Given the description of an element on the screen output the (x, y) to click on. 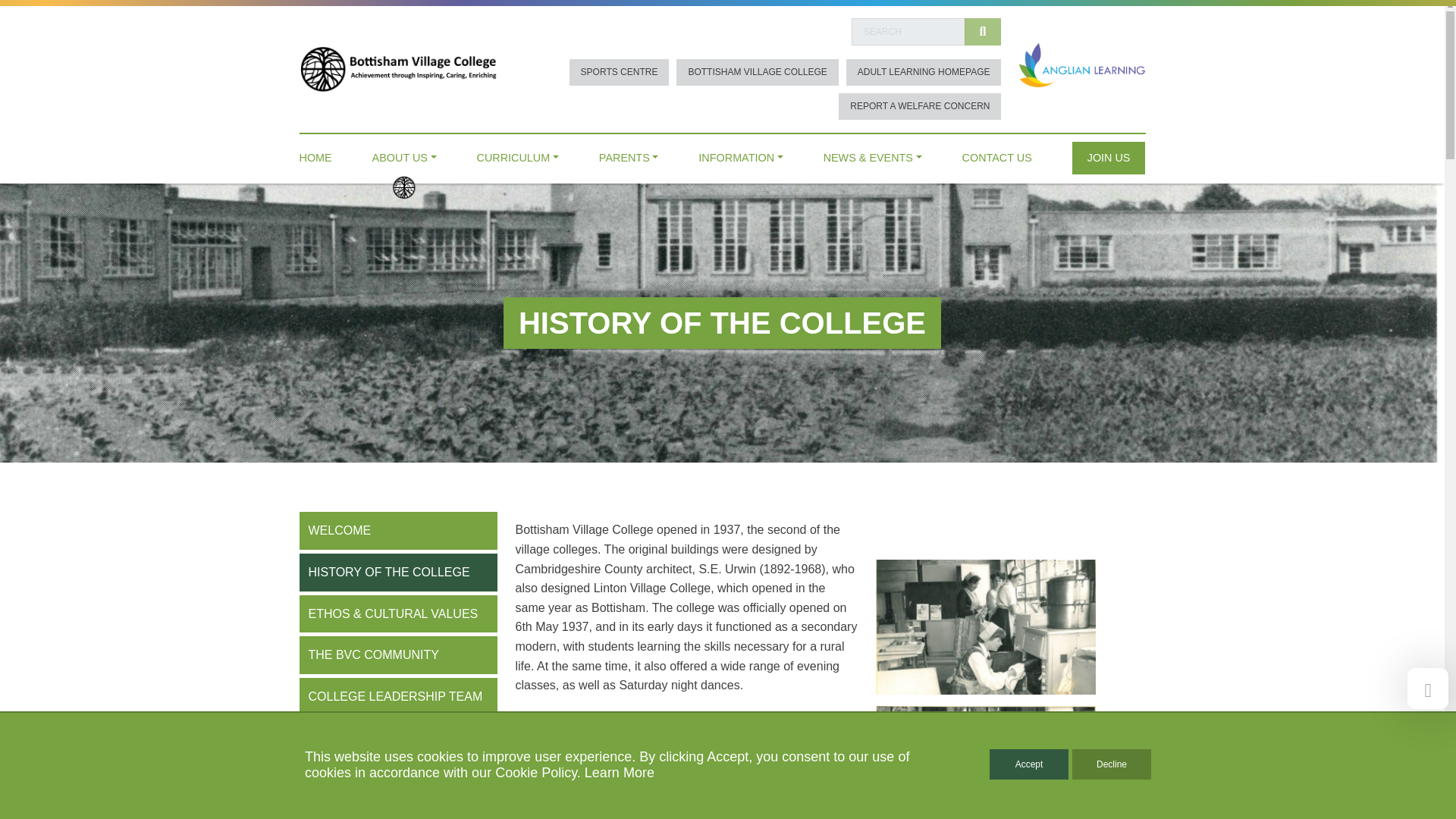
SPORTS CENTRE (619, 71)
ABOUT US (404, 154)
REPORT A WELFARE CONCERN (919, 106)
Anglian Learning (1081, 64)
CURRICULUM (518, 154)
ADULT LEARNING HOMEPAGE (923, 71)
HOME (314, 154)
PARENTS (628, 154)
BOTTISHAM VILLAGE COLLEGE (757, 71)
